Given the description of an element on the screen output the (x, y) to click on. 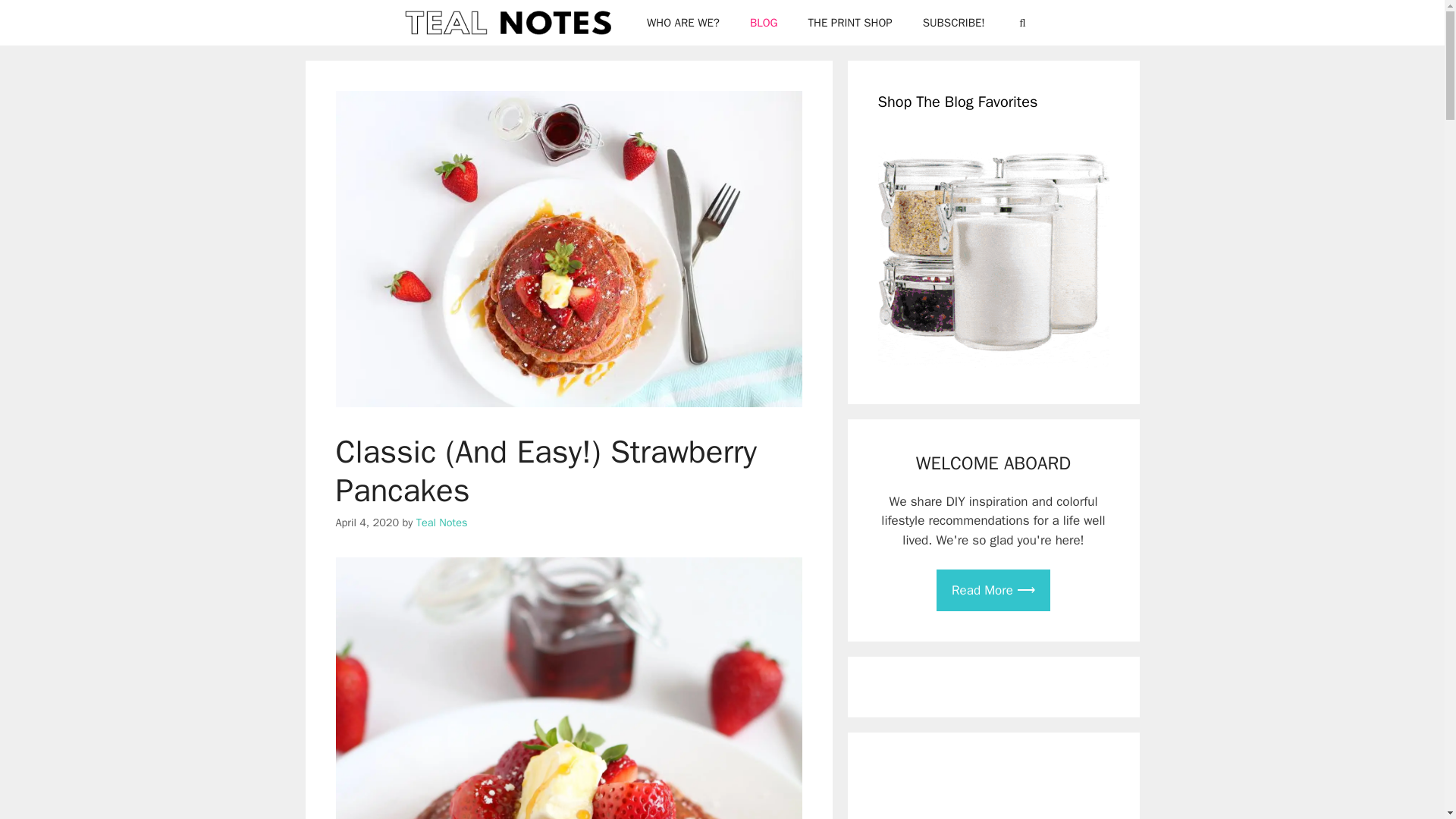
Teal Notes (511, 22)
THE PRINT SHOP (850, 22)
WHO ARE WE? (683, 22)
Teal Notes (441, 522)
View all posts by Teal Notes (441, 522)
SUBSCRIBE! (953, 22)
Teal Notes (506, 22)
BLOG (764, 22)
